Given the description of an element on the screen output the (x, y) to click on. 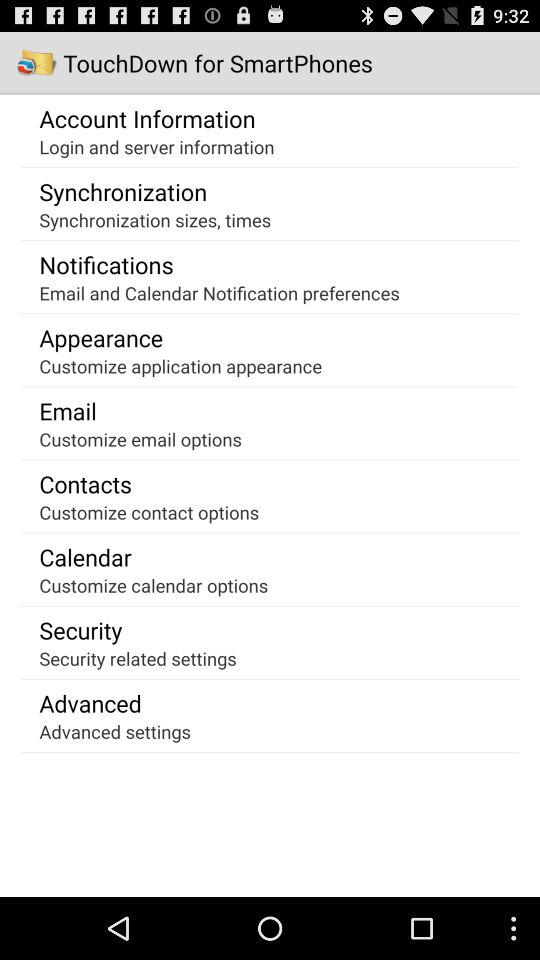
press the item below the appearance app (180, 365)
